Given the description of an element on the screen output the (x, y) to click on. 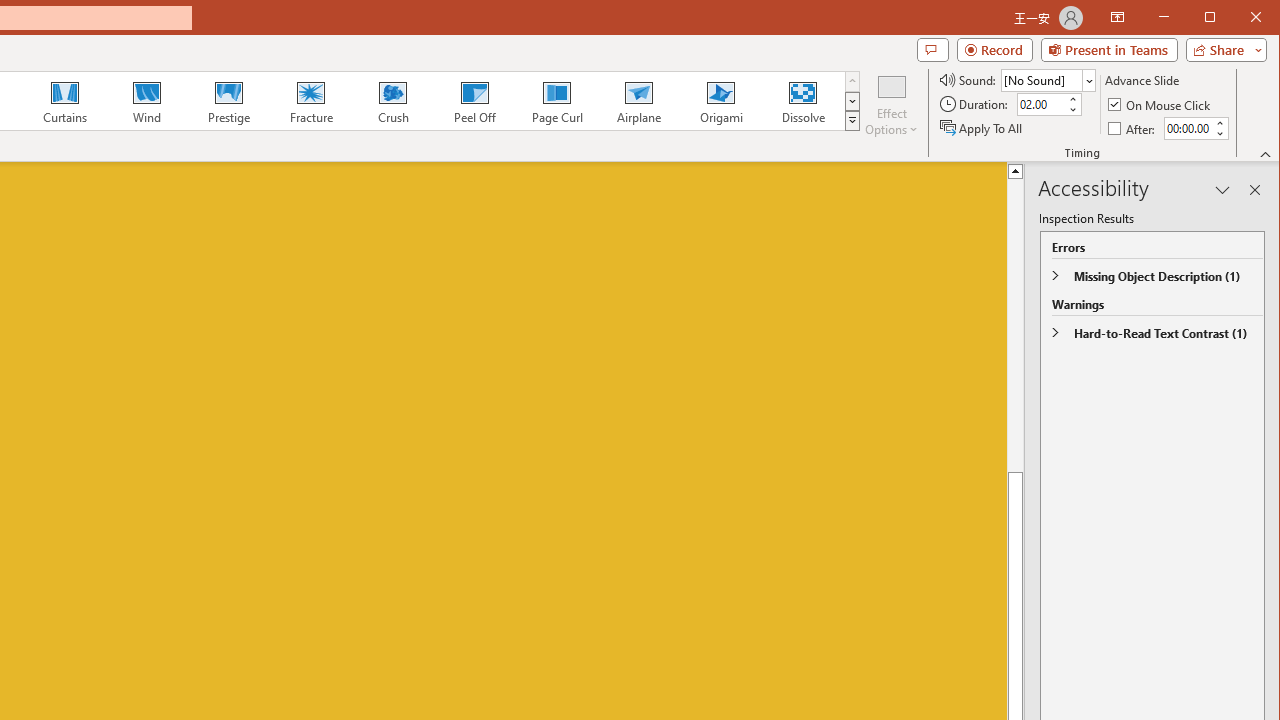
Page Curl (556, 100)
Apply To All (982, 127)
Wind (147, 100)
More (1218, 123)
Duration (1040, 104)
On Mouse Click (1160, 103)
Peel Off (474, 100)
Sound (1047, 80)
Less (1218, 133)
